Given the description of an element on the screen output the (x, y) to click on. 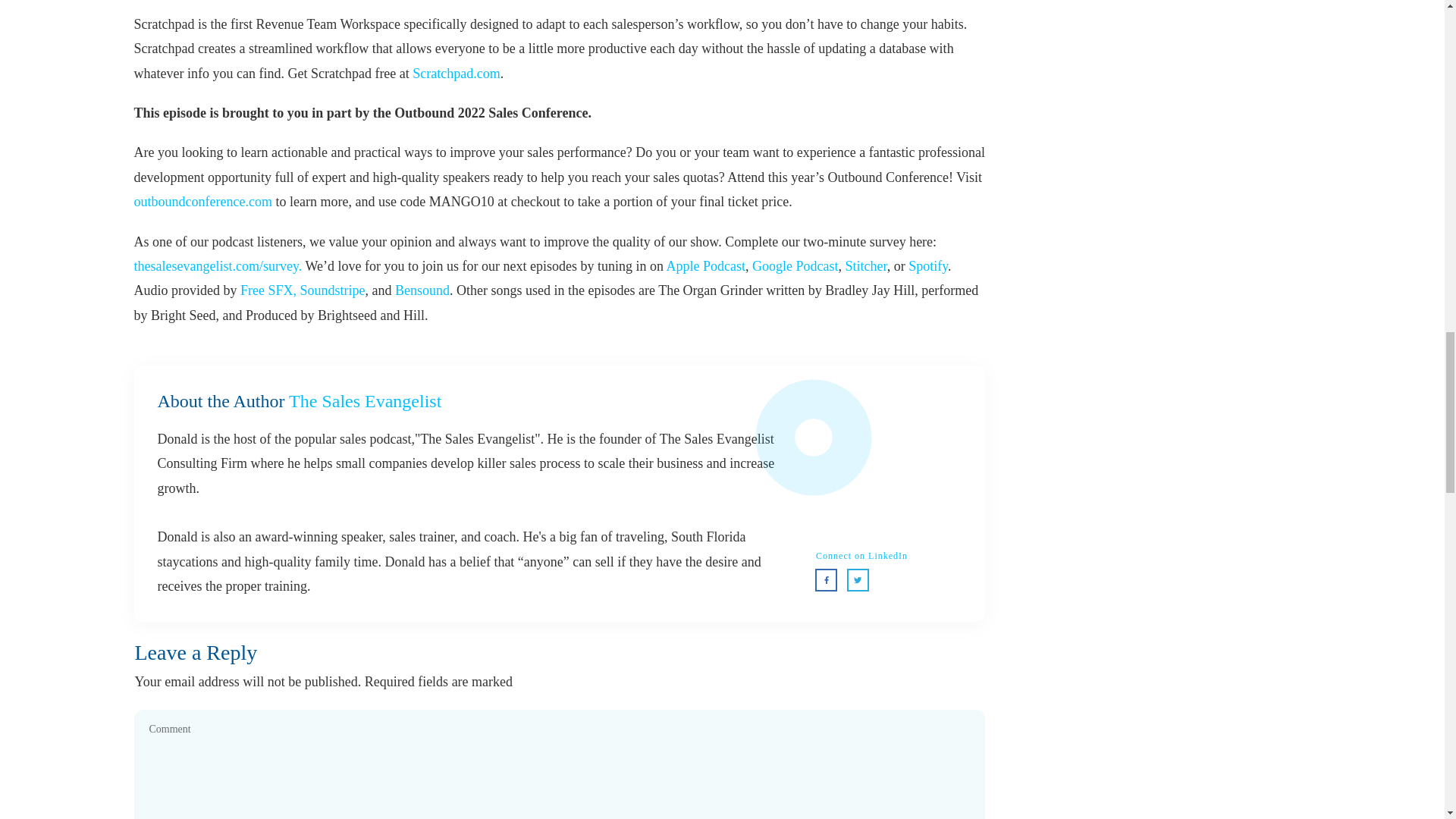
The Sales Evangelist (364, 401)
Author Box 03 (888, 466)
